Given the description of an element on the screen output the (x, y) to click on. 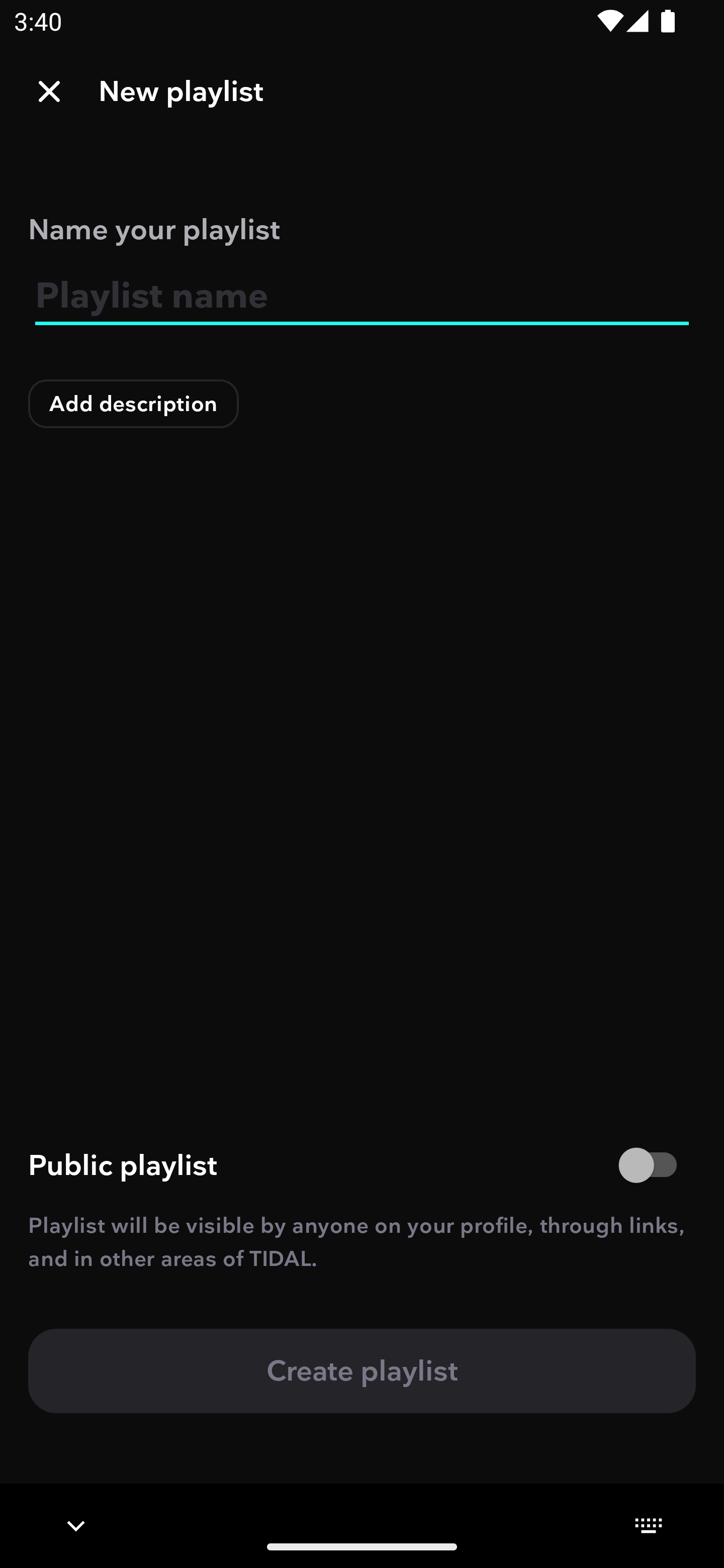
Back (49, 91)
Playlist name (361, 295)
Add description (133, 403)
Create playlist (361, 1370)
